Given the description of an element on the screen output the (x, y) to click on. 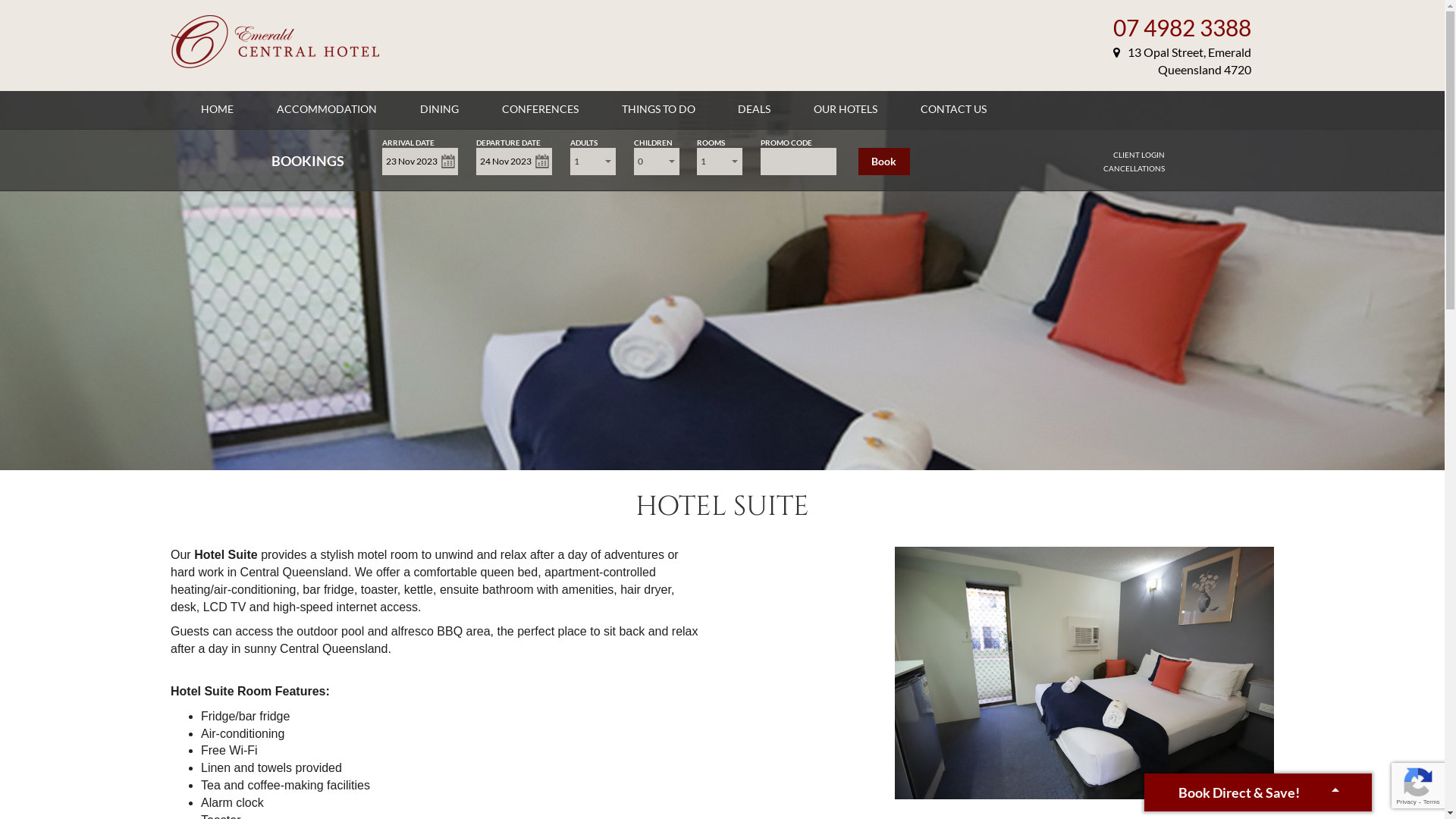
CLIENT LOGIN Element type: text (1138, 154)
CONTACT US Element type: text (953, 109)
DEALS Element type: text (753, 109)
OUR HOTELS Element type: text (845, 109)
07 4982 3388 Element type: text (1182, 26)
Book Element type: text (884, 161)
13 Opal Street, Emerald
Queensland 4720 Element type: text (1182, 60)
THINGS TO DO Element type: text (658, 109)
CANCELLATIONS Element type: text (1133, 167)
HOME Element type: text (216, 109)
ACCOMMODATION Element type: text (326, 109)
CONFERENCES Element type: text (540, 109)
DINING Element type: text (439, 109)
